Given the description of an element on the screen output the (x, y) to click on. 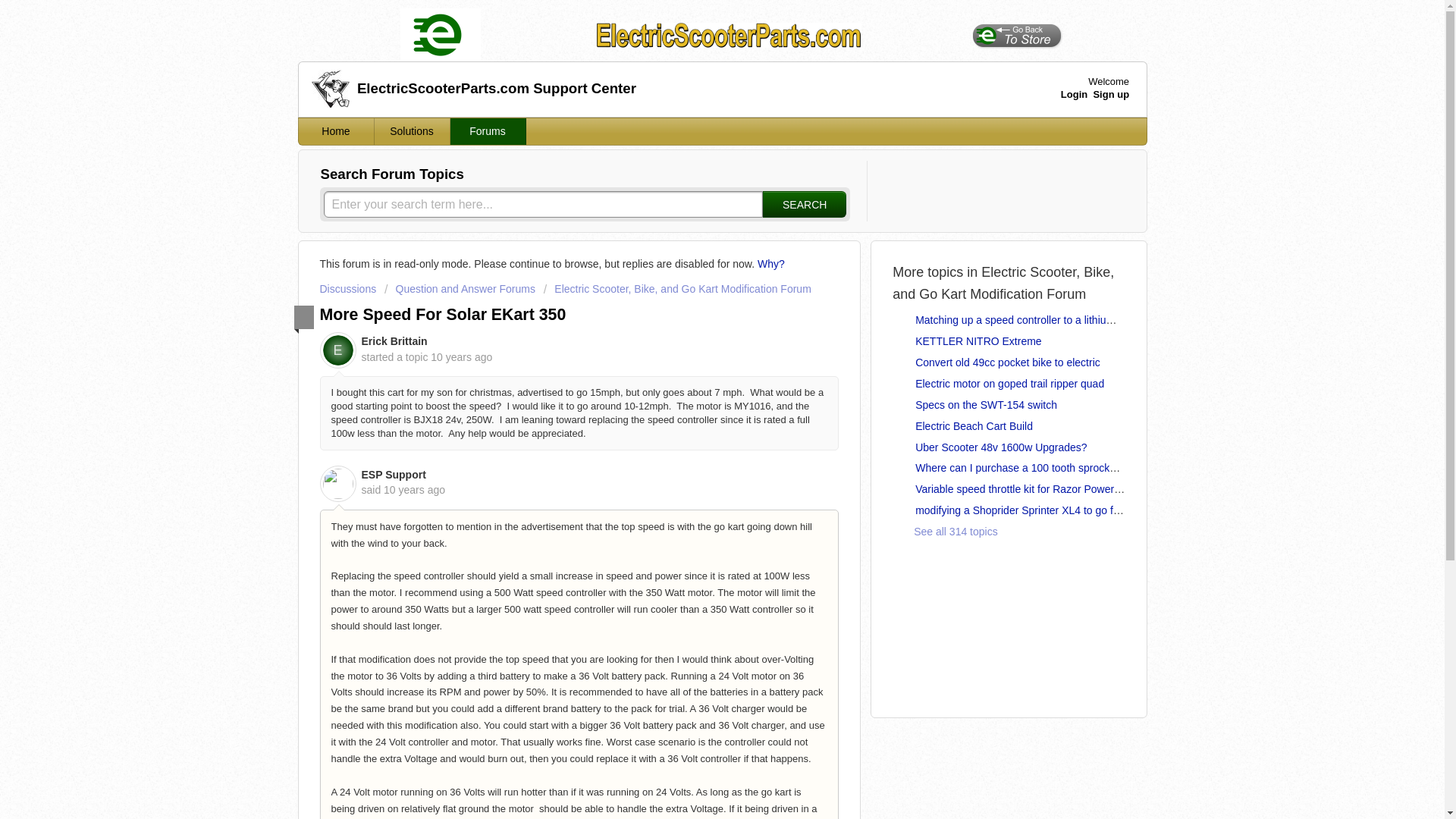
Variable speed throttle kit for Razor Power Core E90 (1038, 489)
Convert old 49cc pocket bike to electric (1007, 362)
Solutions (411, 130)
Specs on the SWT-154 switch (986, 404)
Electric Beach Cart Build (973, 426)
Uber Scooter 48v 1600w Upgrades? (1000, 447)
Sun, 4 Jan, 2015 at  8:09 PM (414, 490)
Specs on the SWT-154 switch (986, 404)
Login (1074, 93)
Thu, 1 Jan, 2015 at  8:55 AM (461, 357)
